Given the description of an element on the screen output the (x, y) to click on. 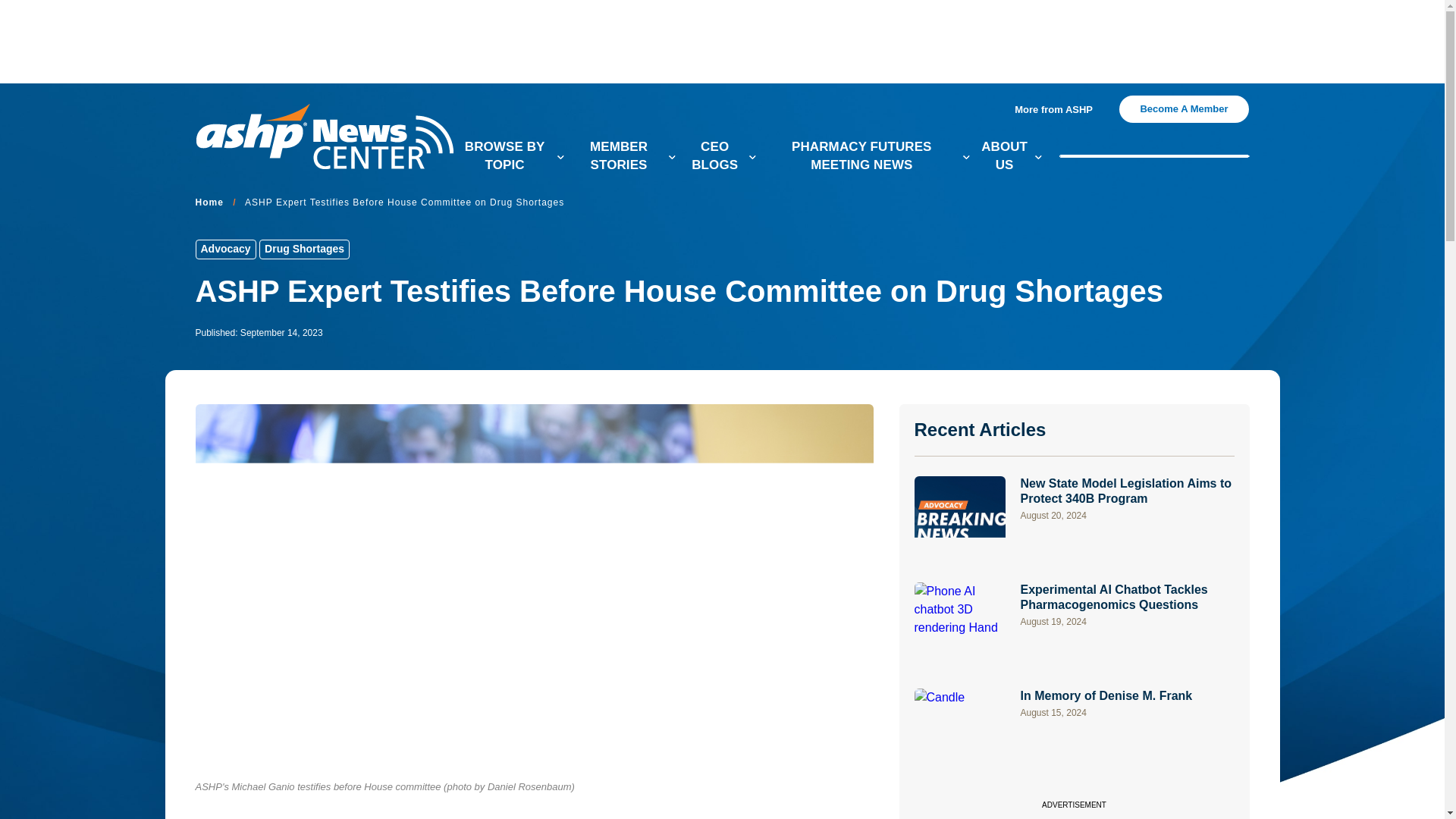
Become A Member (1183, 108)
Home (209, 203)
ABOUT US (1010, 156)
More from ASHP (1058, 109)
BROWSE BY TOPIC (510, 156)
CEO BLOGS (720, 156)
PHARMACY FUTURES MEETING NEWS (868, 156)
MEMBER STORIES (625, 156)
